Given the description of an element on the screen output the (x, y) to click on. 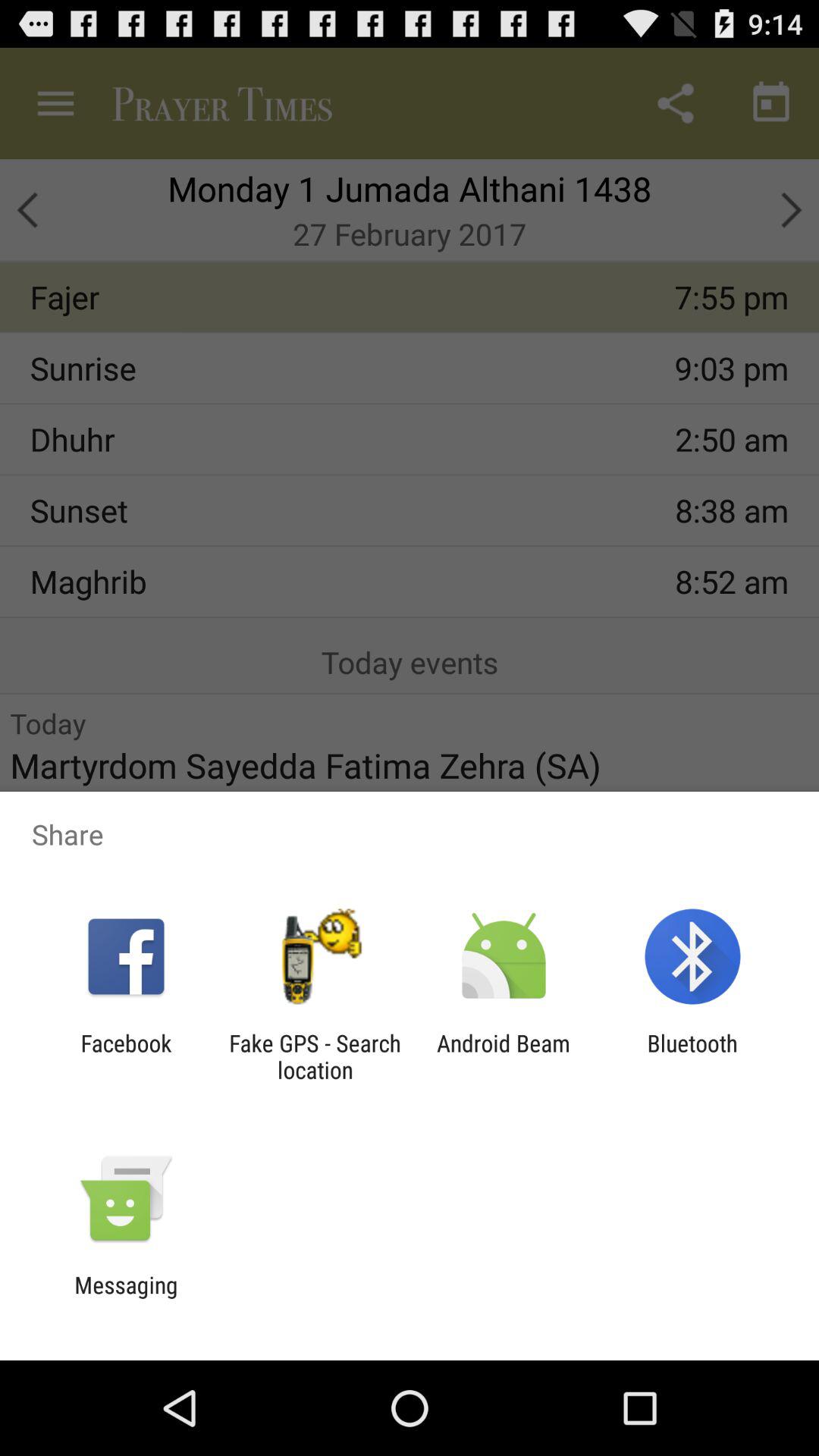
turn off the icon next to bluetooth item (503, 1056)
